Given the description of an element on the screen output the (x, y) to click on. 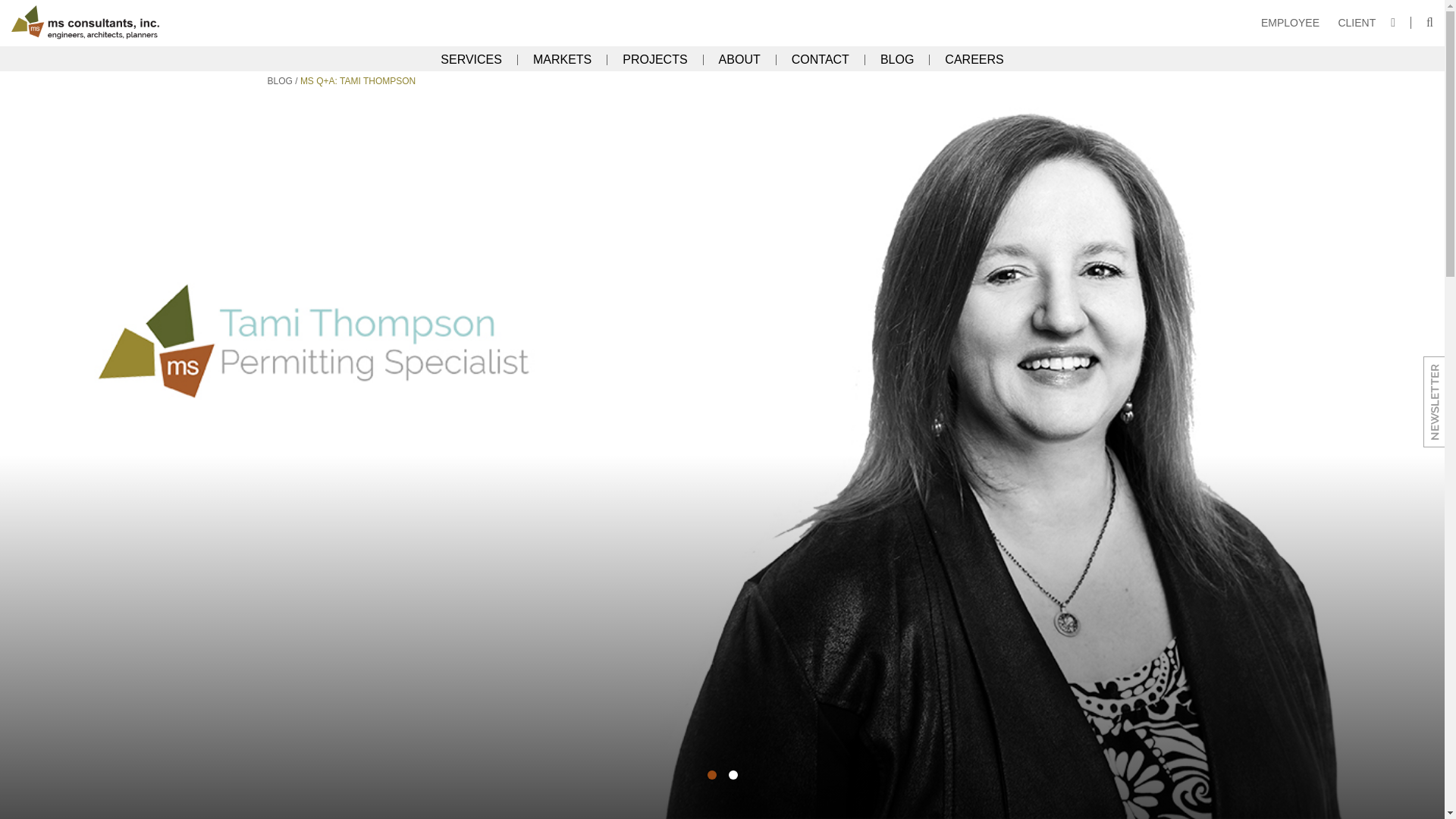
MARKETS (562, 59)
EMPLOYEE (1289, 22)
ABOUT (739, 59)
CONTACT (820, 59)
SERVICES (471, 59)
BLOG (897, 59)
PROJECTS (655, 59)
BLOG (279, 81)
CLIENT (1356, 22)
CAREERS (973, 59)
